Given the description of an element on the screen output the (x, y) to click on. 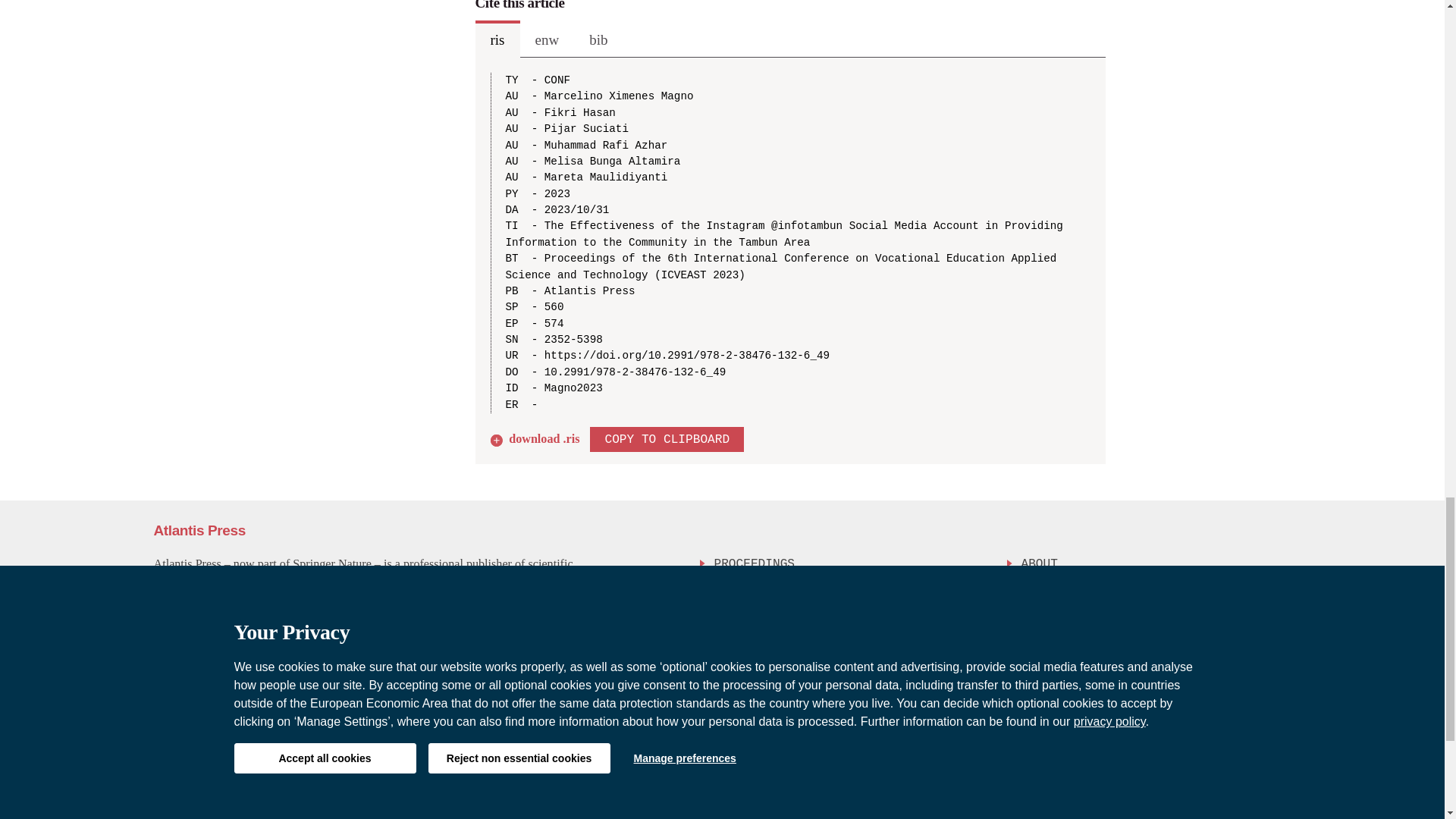
Facebook (1215, 741)
Twitter (1243, 741)
LinkedIn (1275, 741)
